Given the description of an element on the screen output the (x, y) to click on. 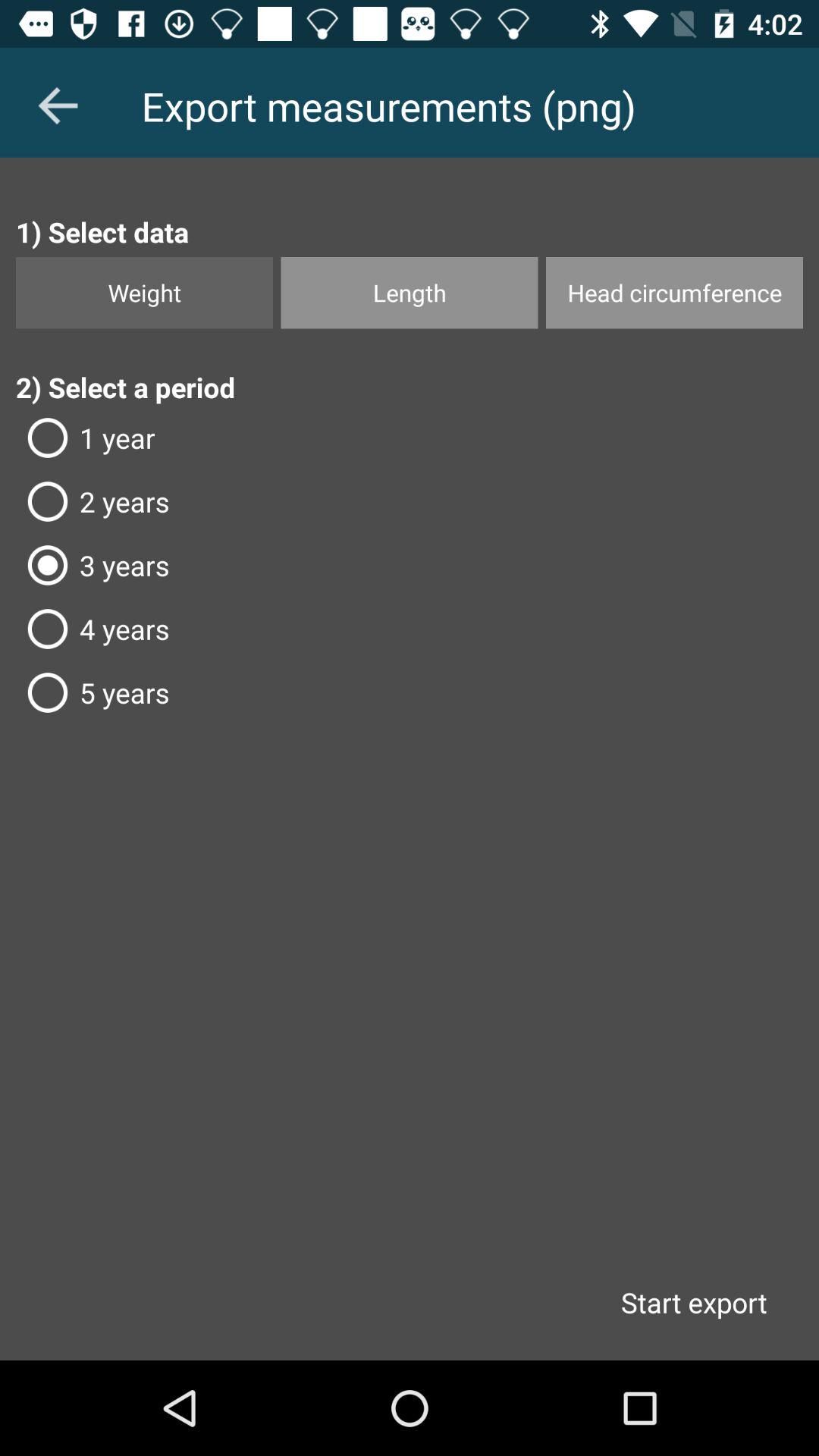
open item next to the head circumference icon (409, 292)
